Given the description of an element on the screen output the (x, y) to click on. 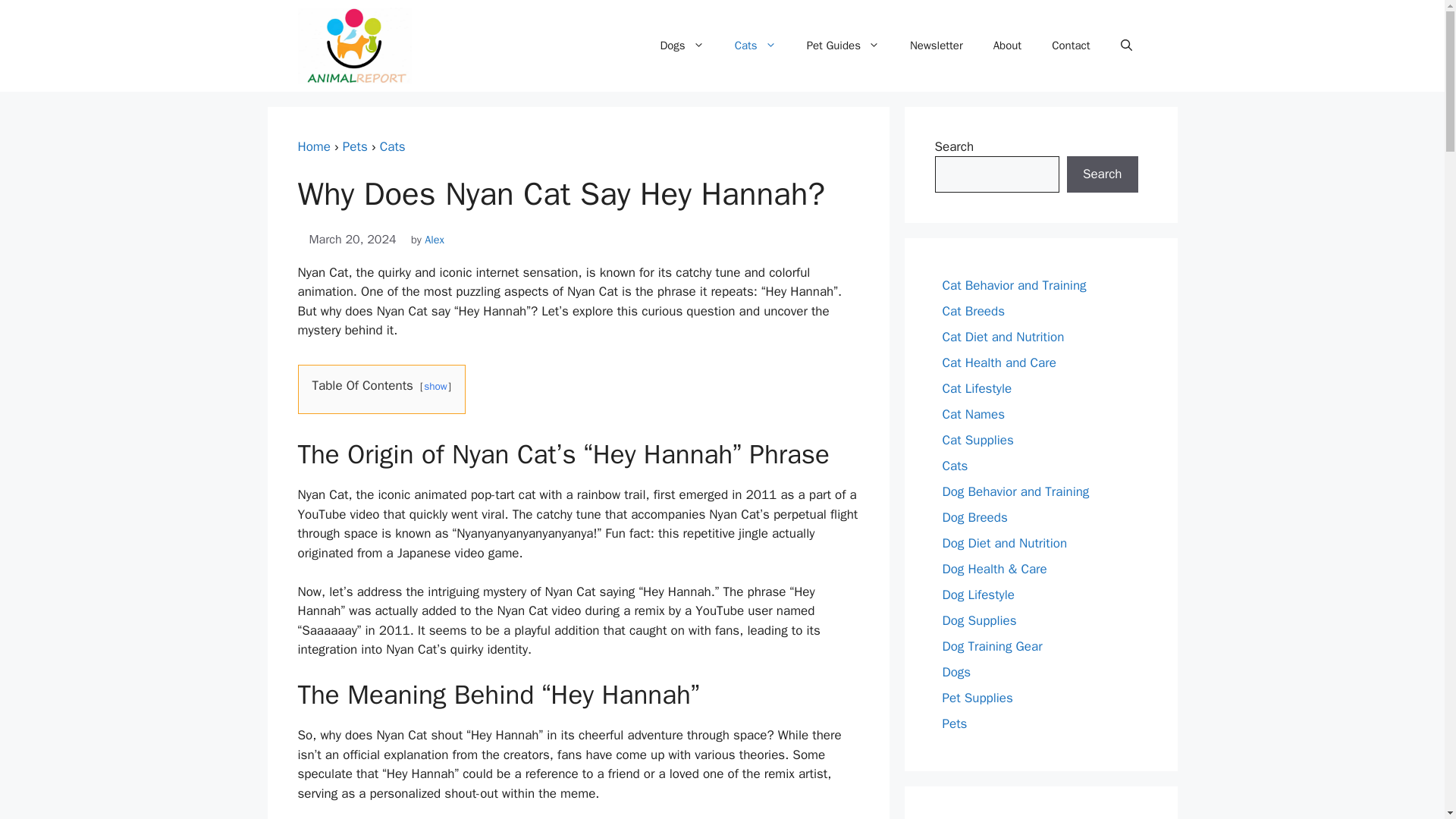
Pets (355, 145)
Home (313, 145)
About (1007, 44)
View all posts by Alex (434, 239)
Cats (755, 44)
Pets (355, 145)
show (434, 386)
Home (313, 145)
Cats (393, 145)
Contact (1070, 44)
Alex (434, 239)
Newsletter (936, 44)
Cats (393, 145)
Dogs (682, 44)
Pet Guides (843, 44)
